Given the description of an element on the screen output the (x, y) to click on. 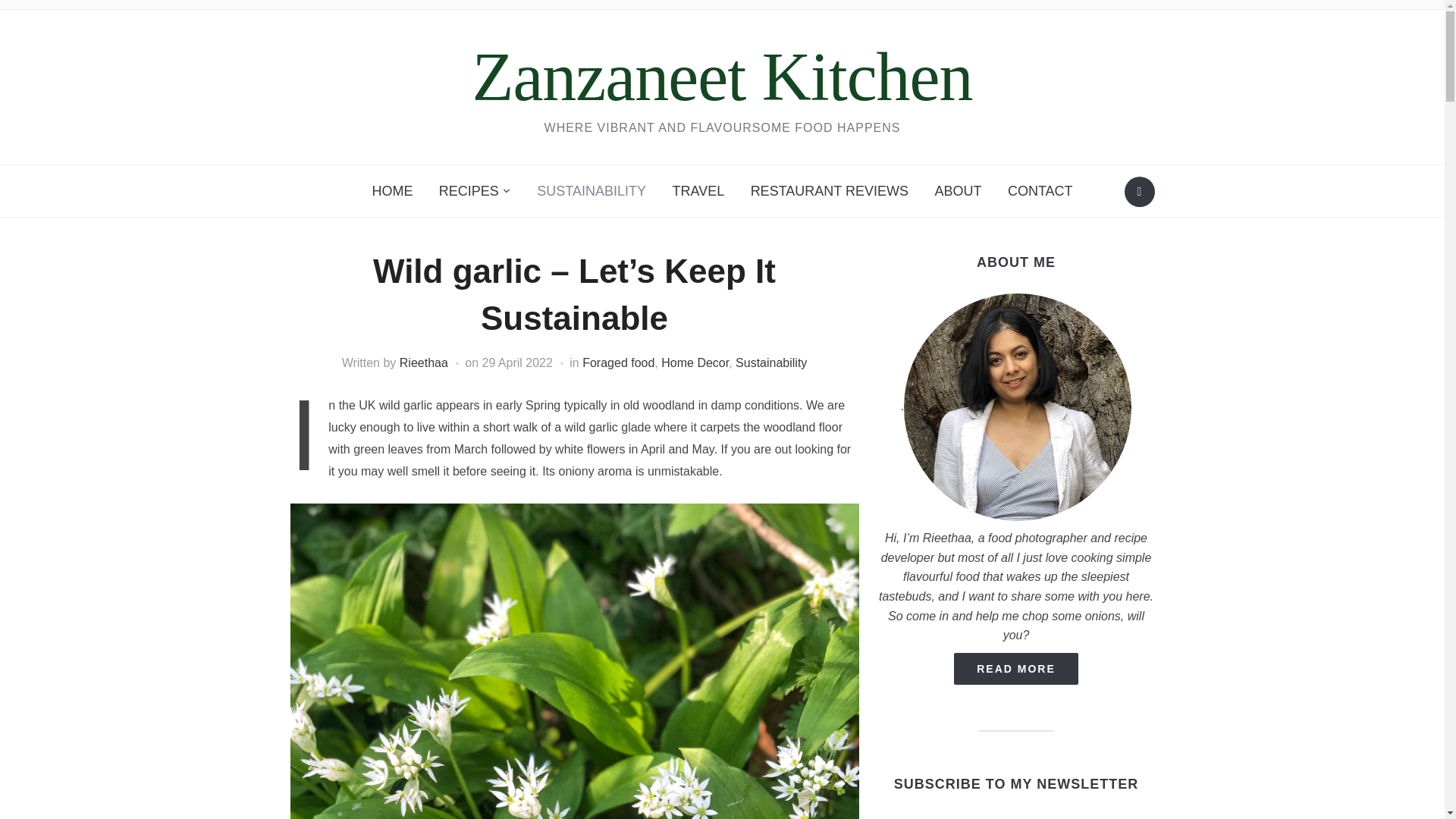
Rieethaa (423, 362)
TRAVEL (698, 190)
where vibrant and flavoursome food happens (721, 76)
SUSTAINABILITY (591, 190)
ABOUT (957, 190)
Posts by Rieethaa (423, 362)
CONTACT (1039, 190)
Search (1139, 191)
Home Decor (695, 362)
Zanzaneet Kitchen (721, 76)
HOME (391, 190)
RECIPES (475, 190)
Foraged food (617, 362)
RESTAURANT REVIEWS (829, 190)
